Given the description of an element on the screen output the (x, y) to click on. 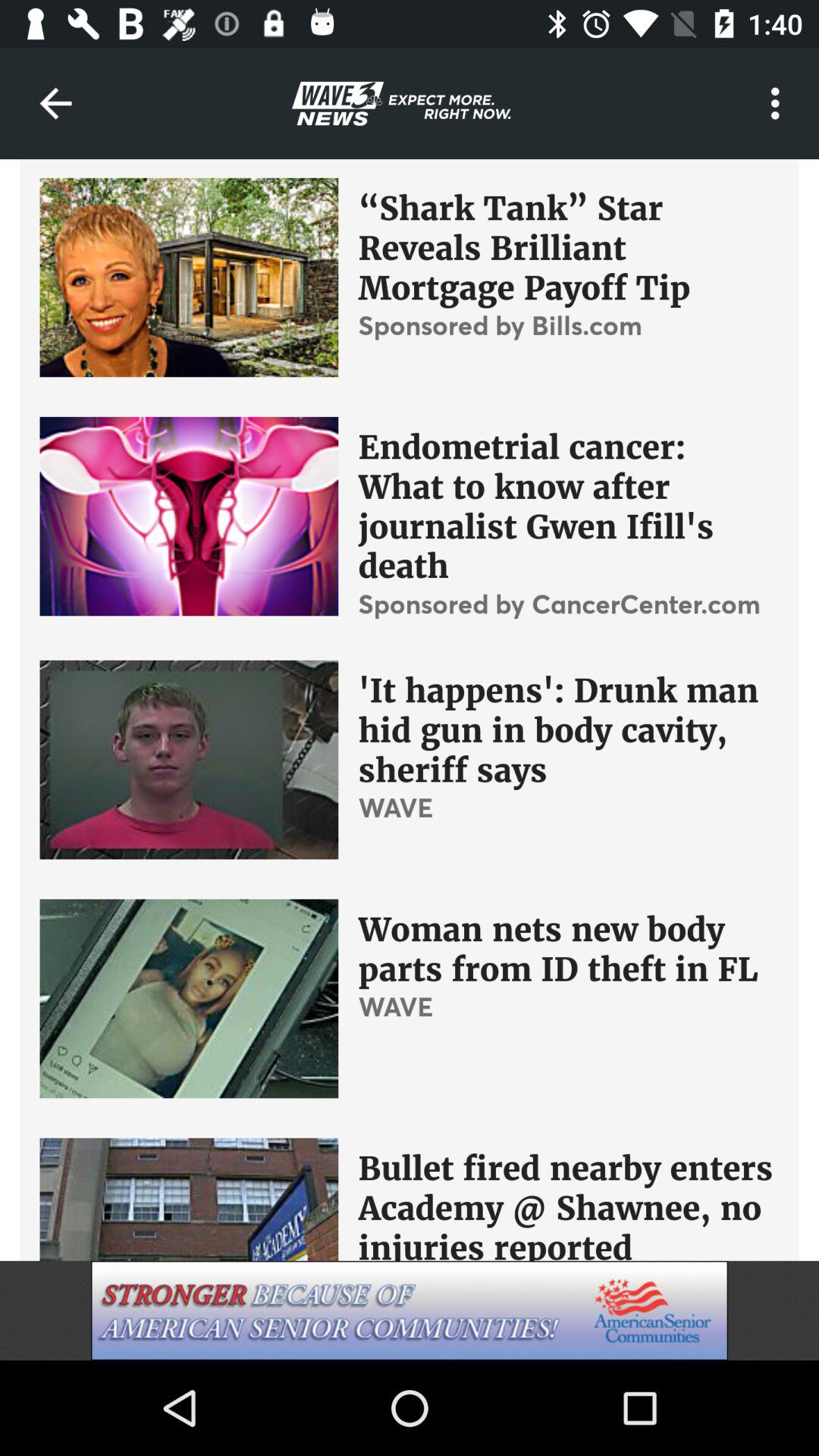
open advertisement (409, 1310)
